Given the description of an element on the screen output the (x, y) to click on. 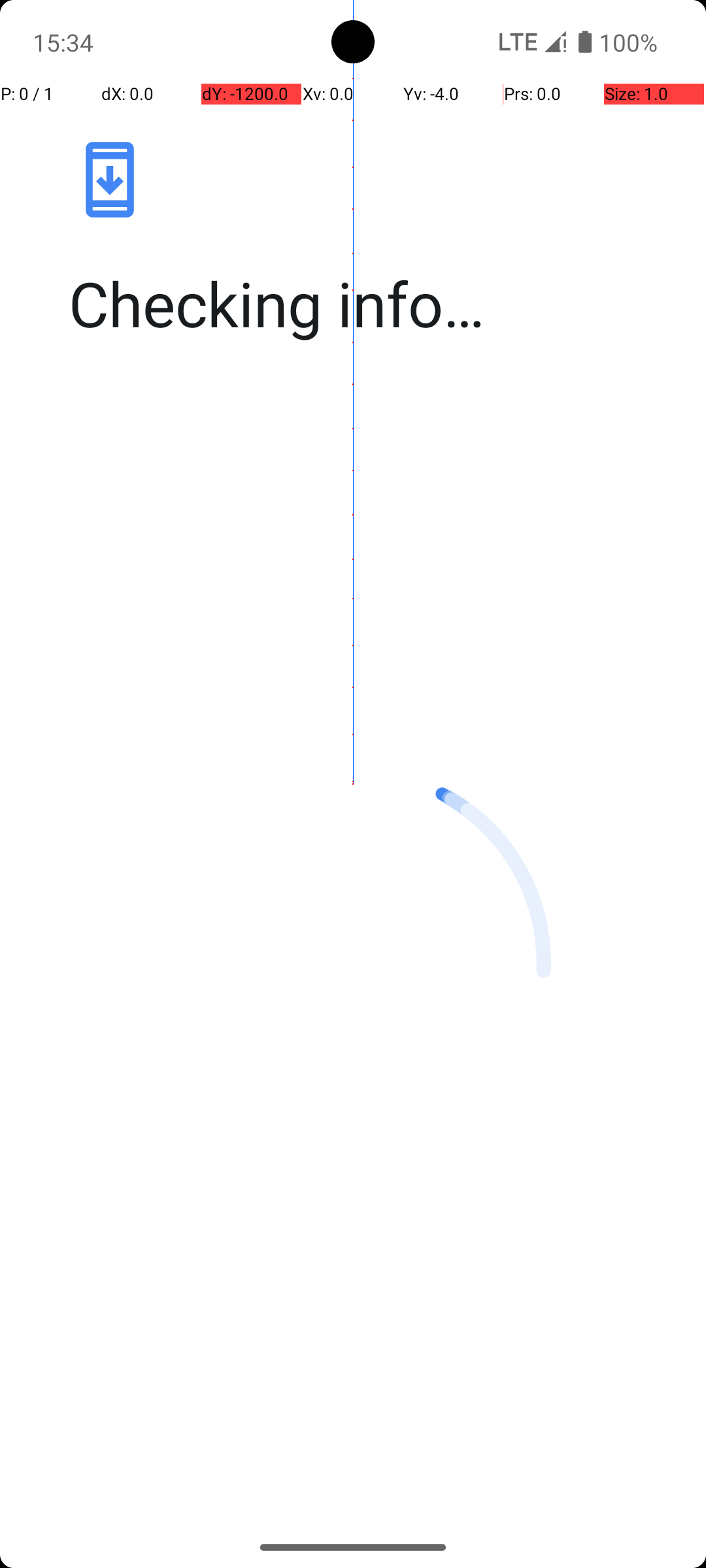
Checking info… Element type: android.widget.TextView (366, 302)
